Given the description of an element on the screen output the (x, y) to click on. 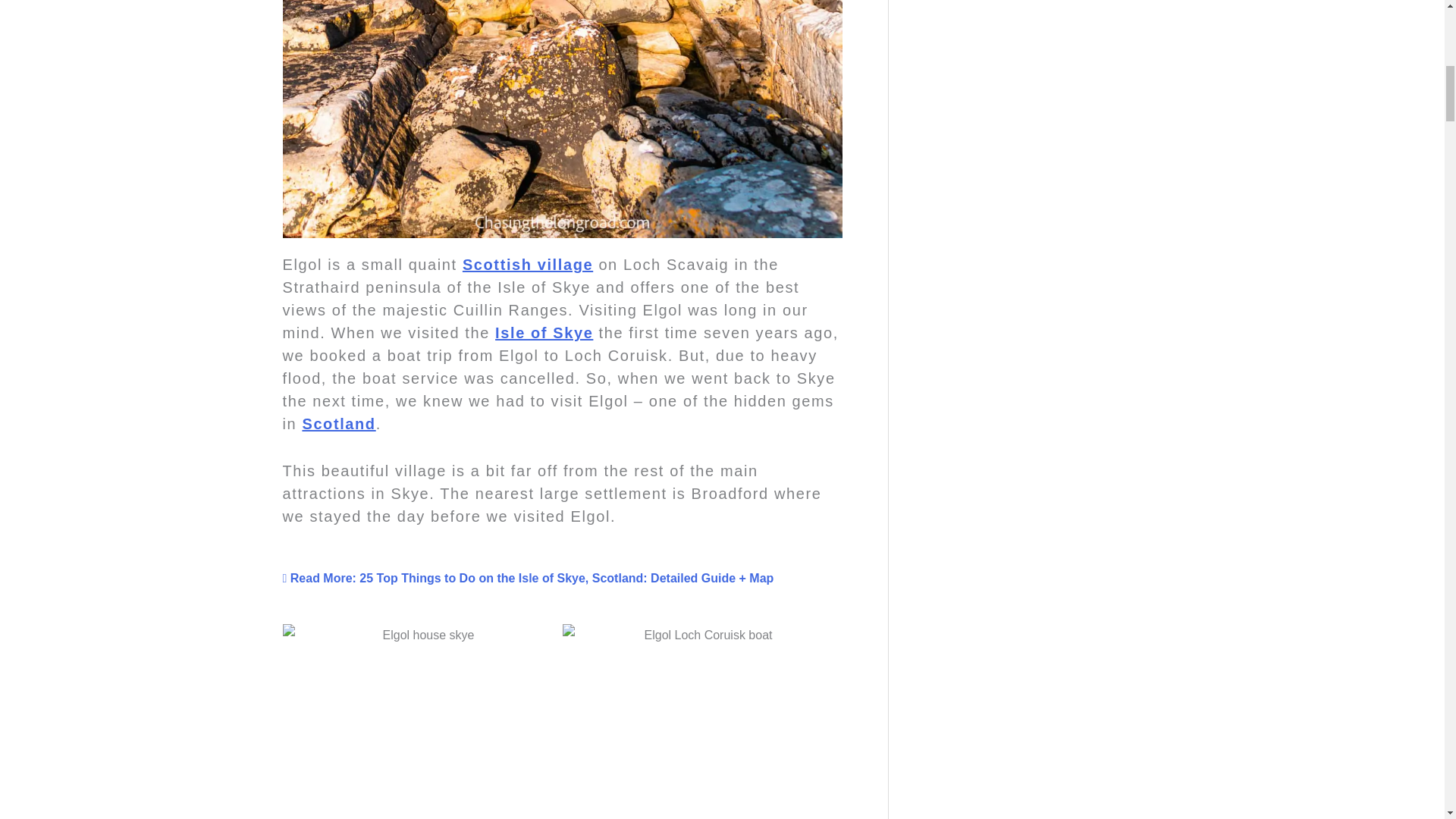
Scottish village (530, 264)
Scotland (338, 423)
Isle of Skye (543, 332)
